Given the description of an element on the screen output the (x, y) to click on. 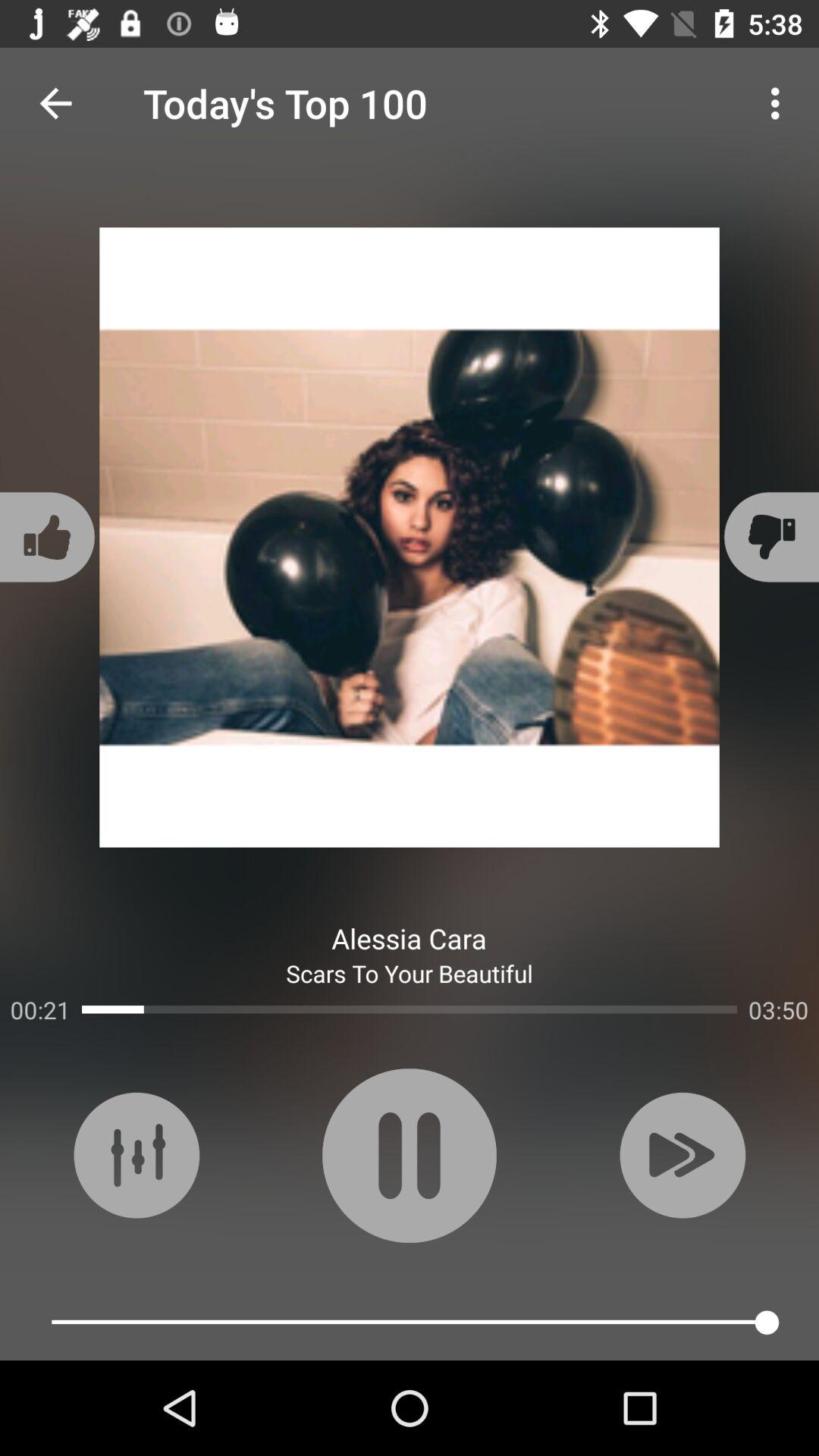
press icon at the top left corner (55, 103)
